Given the description of an element on the screen output the (x, y) to click on. 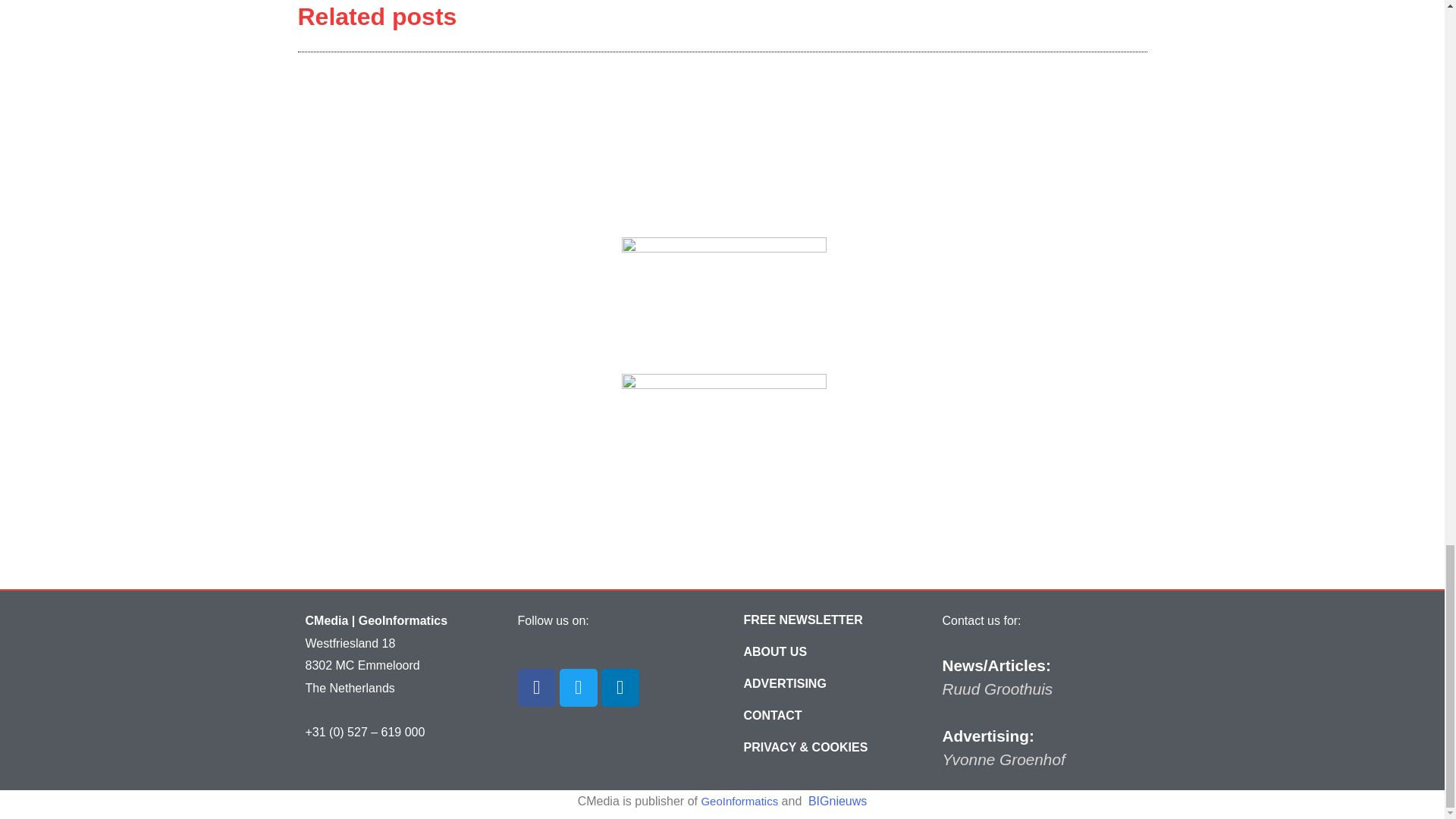
Contact (772, 716)
Advertising? (784, 684)
FREE NEWSLETTER (802, 620)
About GeoInformatics (774, 652)
ADVERTISING (784, 684)
ABOUT US (774, 652)
CONTACT (772, 716)
FREE eNewsletter (802, 620)
